Given the description of an element on the screen output the (x, y) to click on. 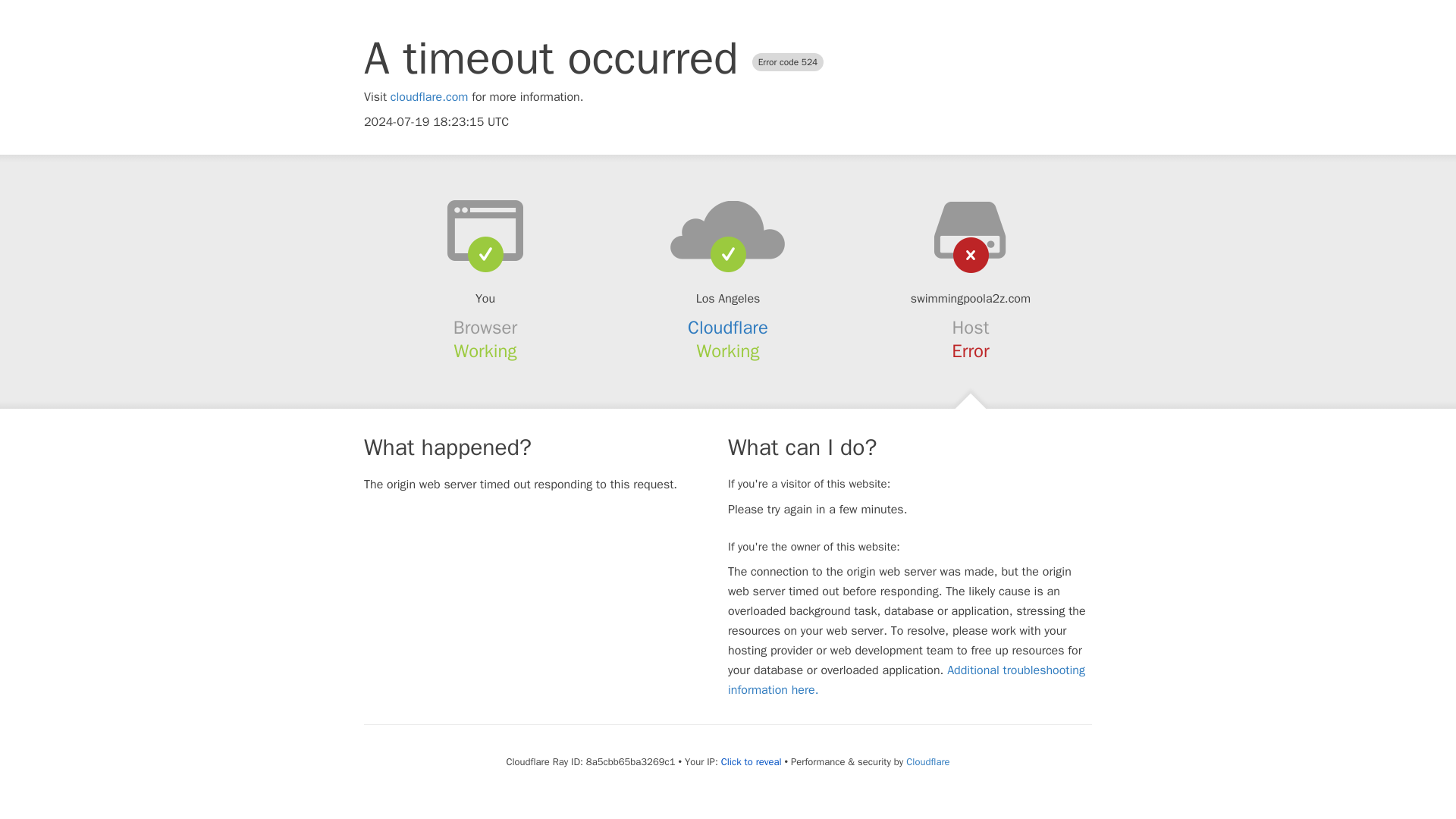
cloudflare.com (429, 96)
Click to reveal (750, 762)
Cloudflare (927, 761)
Cloudflare (727, 327)
Additional troubleshooting information here. (906, 679)
